Given the description of an element on the screen output the (x, y) to click on. 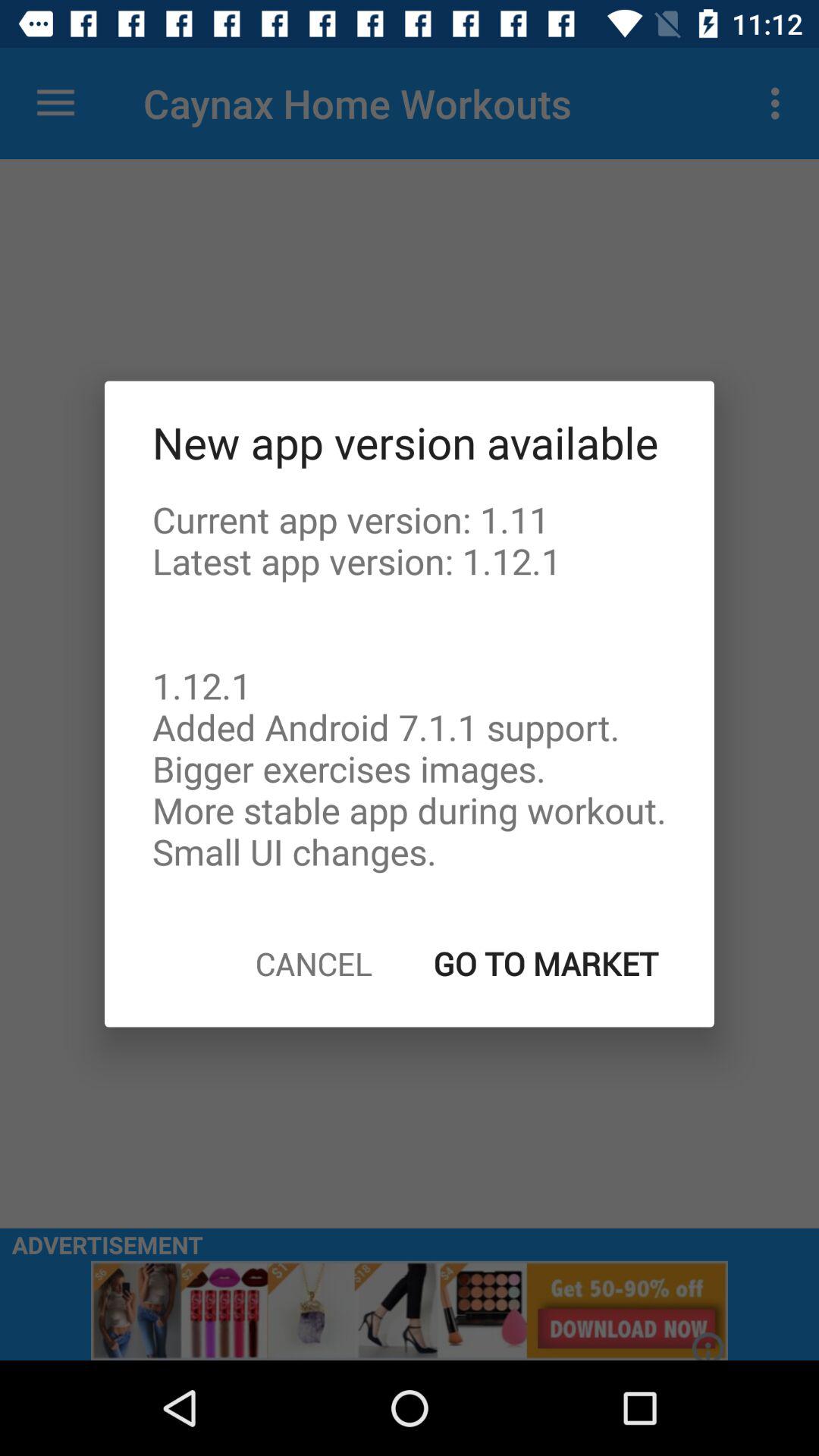
choose item next to go to market item (313, 963)
